Given the description of an element on the screen output the (x, y) to click on. 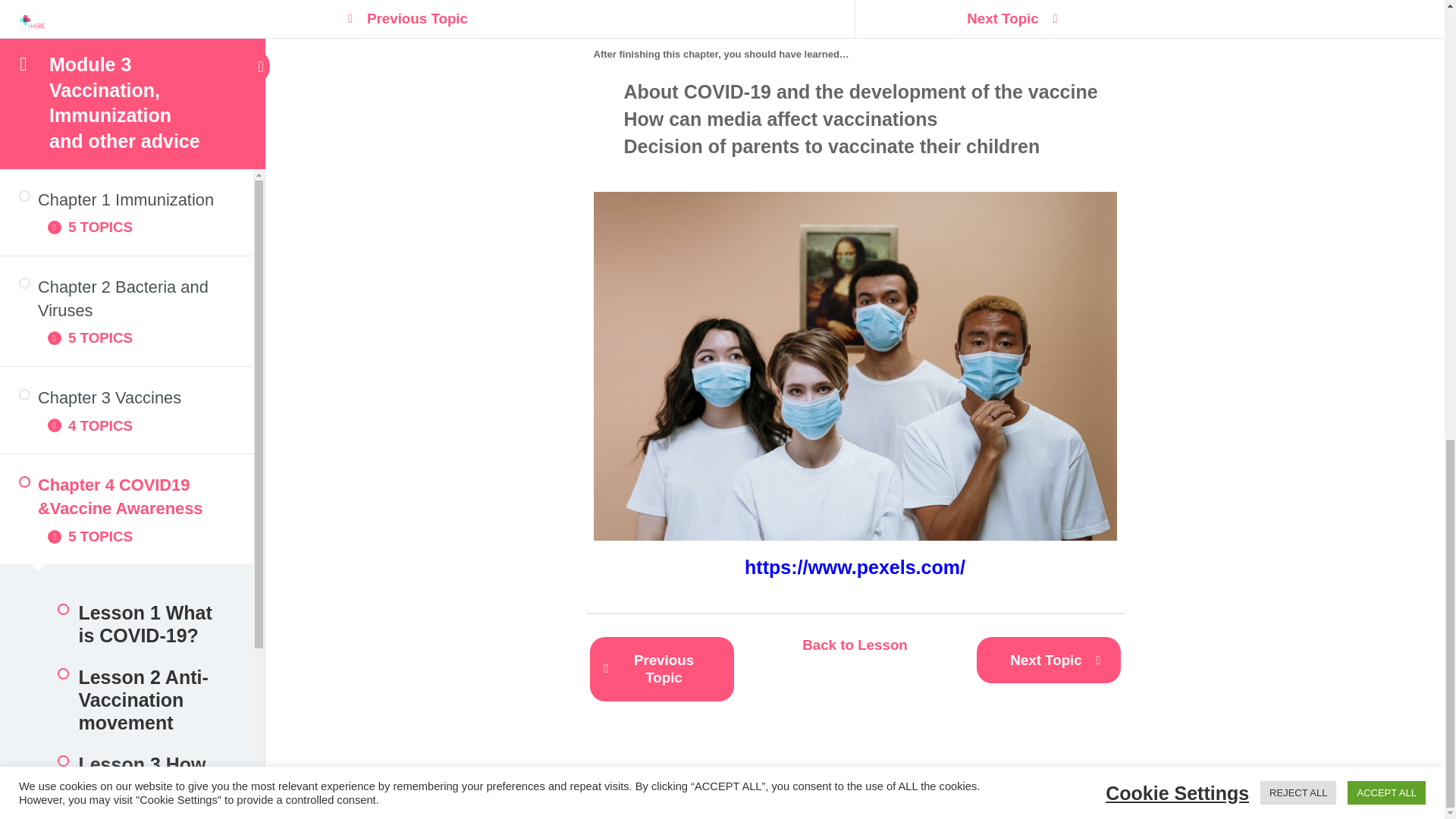
Next Topic (1048, 660)
Bibliography (126, 107)
Previous Topic (661, 669)
Further readings (126, 169)
Lesson 5 Reliable Health Information (126, 24)
Back to Lesson (854, 645)
Copyright Disclaimer (126, 232)
